Given the description of an element on the screen output the (x, y) to click on. 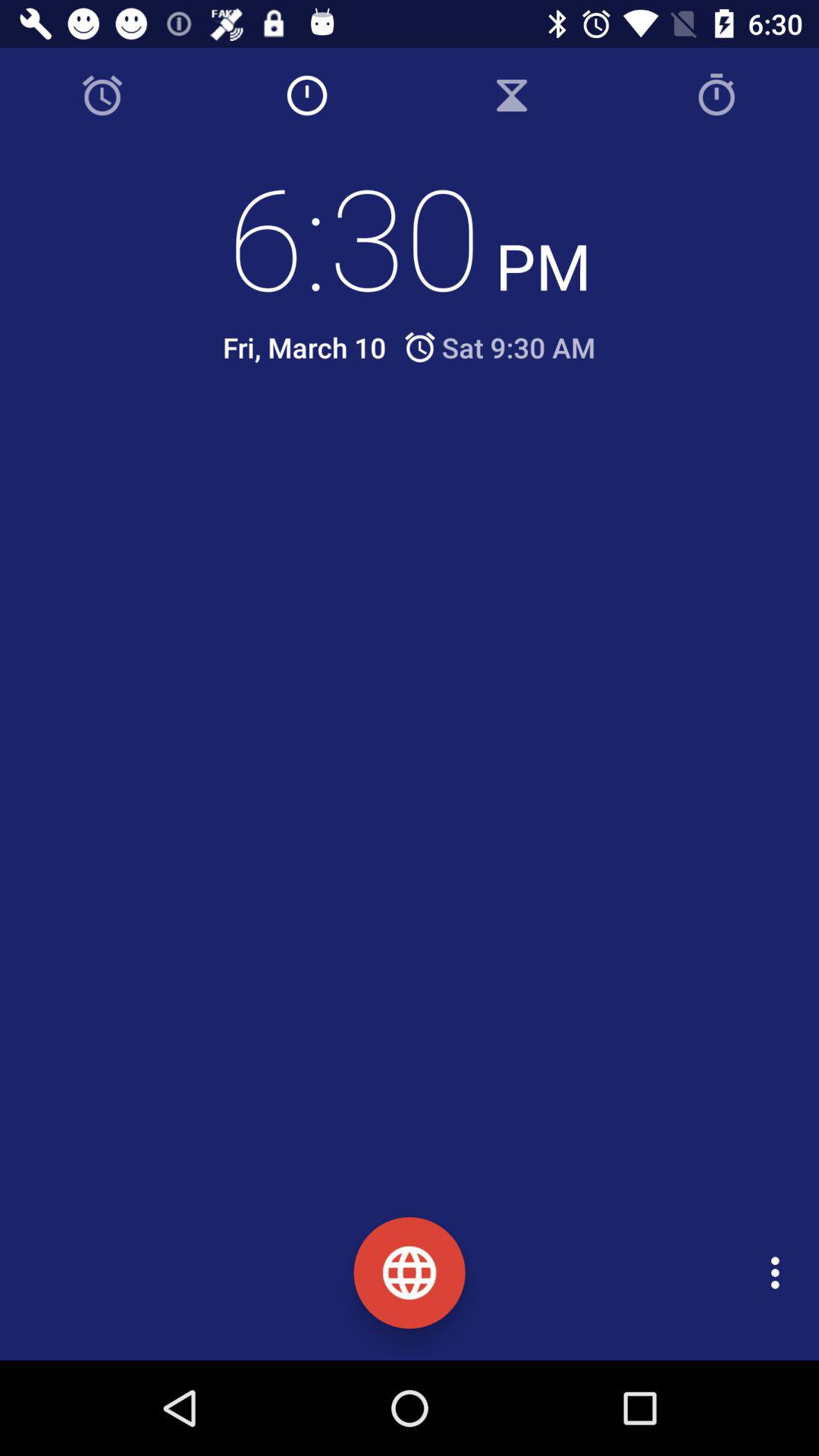
launch the icon to the left of the sat 9 30 (304, 347)
